Given the description of an element on the screen output the (x, y) to click on. 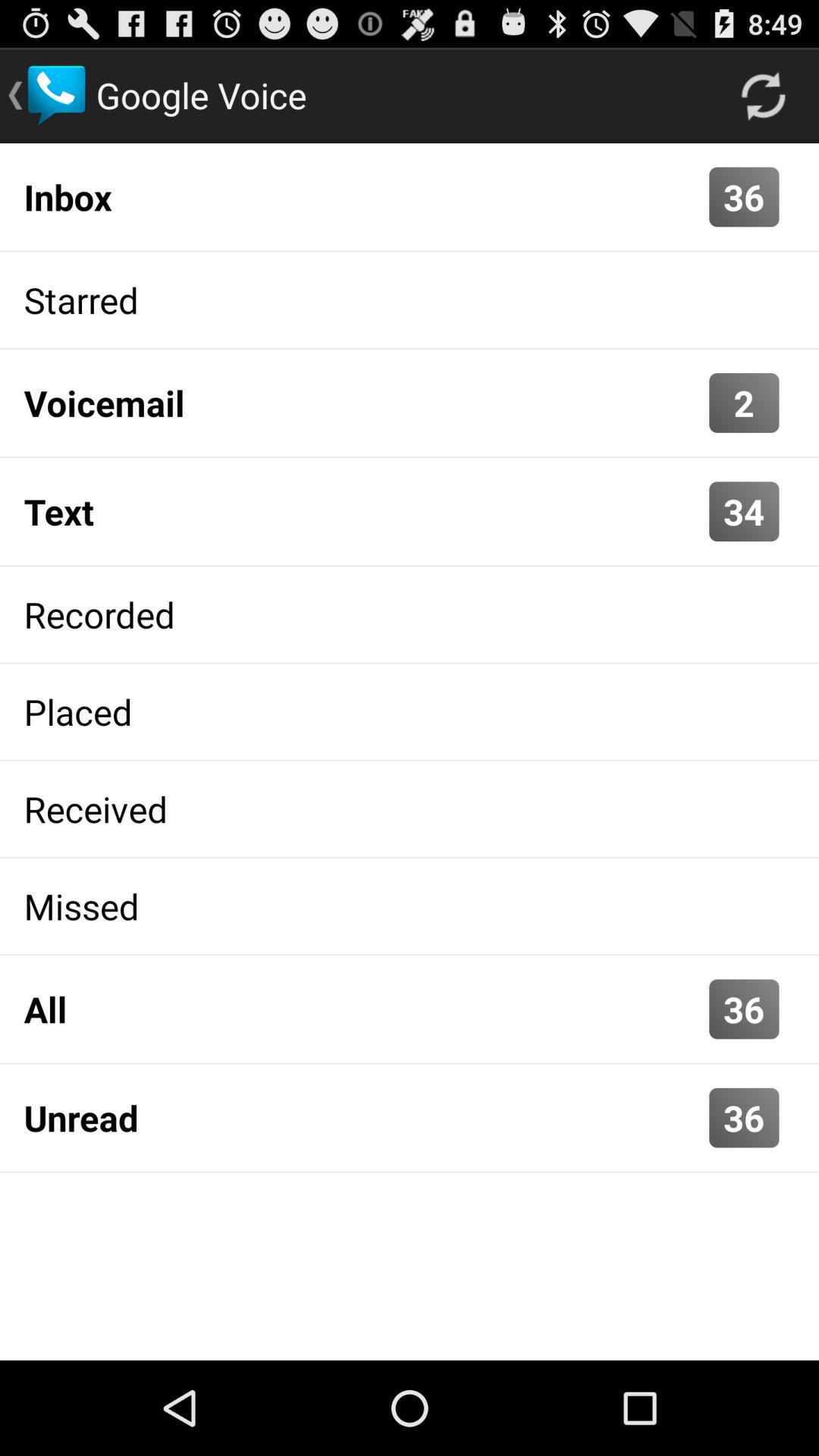
choose app below starred app (744, 402)
